Given the description of an element on the screen output the (x, y) to click on. 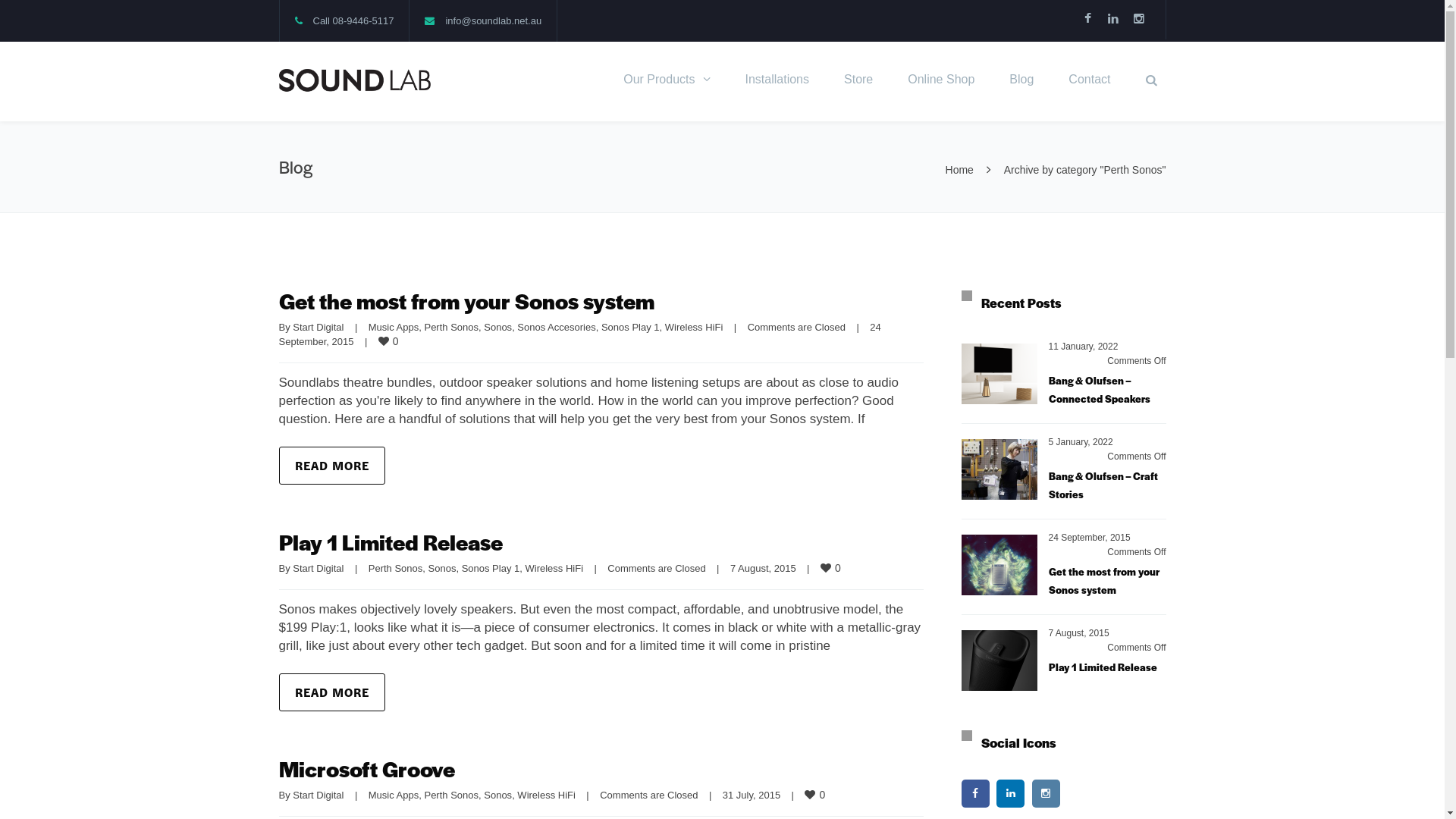
Wireless HiFi Element type: text (553, 568)
0  Element type: text (816, 794)
Store Element type: text (858, 81)
Play 1 Limited Release Element type: text (390, 541)
0  Element type: text (832, 567)
Sonos Play 1 Element type: text (630, 326)
Sonos Accesories Element type: text (556, 326)
Online Shop Element type: text (940, 81)
0  Element type: text (389, 341)
Our Products Element type: text (666, 81)
Play 1 Limited Release Element type: text (1102, 666)
Home Element type: text (959, 169)
Sonos Play 1 Element type: text (490, 568)
Get the most from your Sonos system Element type: text (1103, 580)
READ MORE Element type: text (332, 692)
Microsoft Groove Element type: text (367, 768)
Sonos Element type: text (497, 326)
Soundlab Element type: hover (354, 79)
Music Apps Element type: text (393, 326)
Blog Element type: text (1021, 81)
Contact Element type: text (1089, 81)
Sonos Element type: text (497, 794)
Get the most from your Sonos system Element type: text (466, 300)
Perth Sonos Element type: text (395, 568)
Music Apps Element type: text (393, 794)
Perth Sonos Element type: text (450, 794)
Wireless HiFi Element type: text (694, 326)
Perth Sonos Element type: text (450, 326)
Wireless HiFi Element type: text (546, 794)
info@soundlab.net.au Element type: text (493, 20)
Installations Element type: text (777, 81)
Sonos Element type: text (442, 568)
READ MORE Element type: text (332, 465)
